Given the description of an element on the screen output the (x, y) to click on. 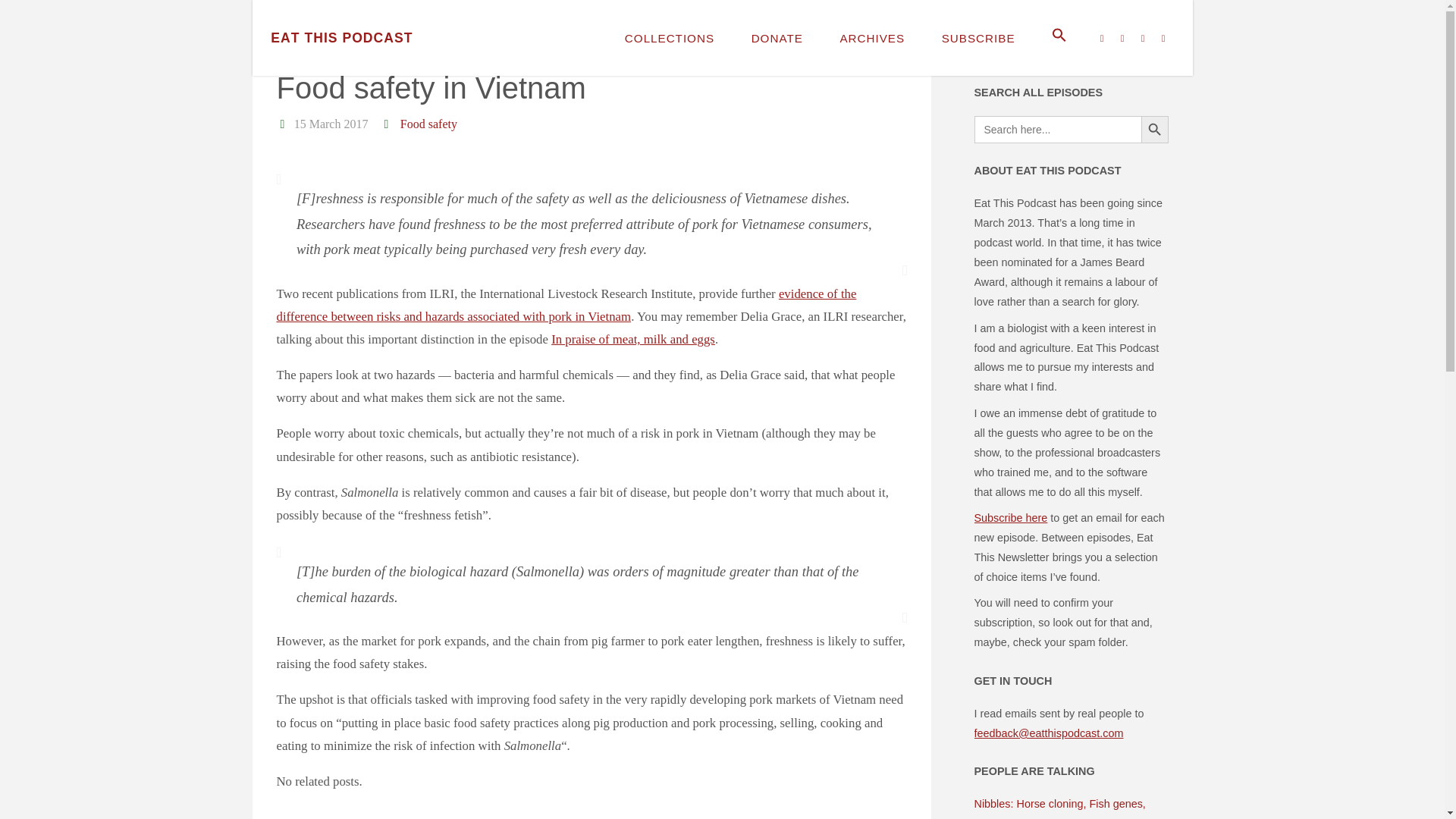
Talking about anything around food (341, 37)
DONATE (776, 38)
SUBSCRIBE (977, 38)
Tagged (387, 123)
Extra Matter (323, 51)
COLLECTIONS (670, 38)
Subscribe here (1010, 517)
And on Mastodon (1060, 48)
Categories (282, 51)
And I will read your emails (1099, 48)
In praise of meat, milk and eggs (632, 339)
Food safety (427, 123)
Search Button (1153, 129)
Date (282, 123)
